Given the description of an element on the screen output the (x, y) to click on. 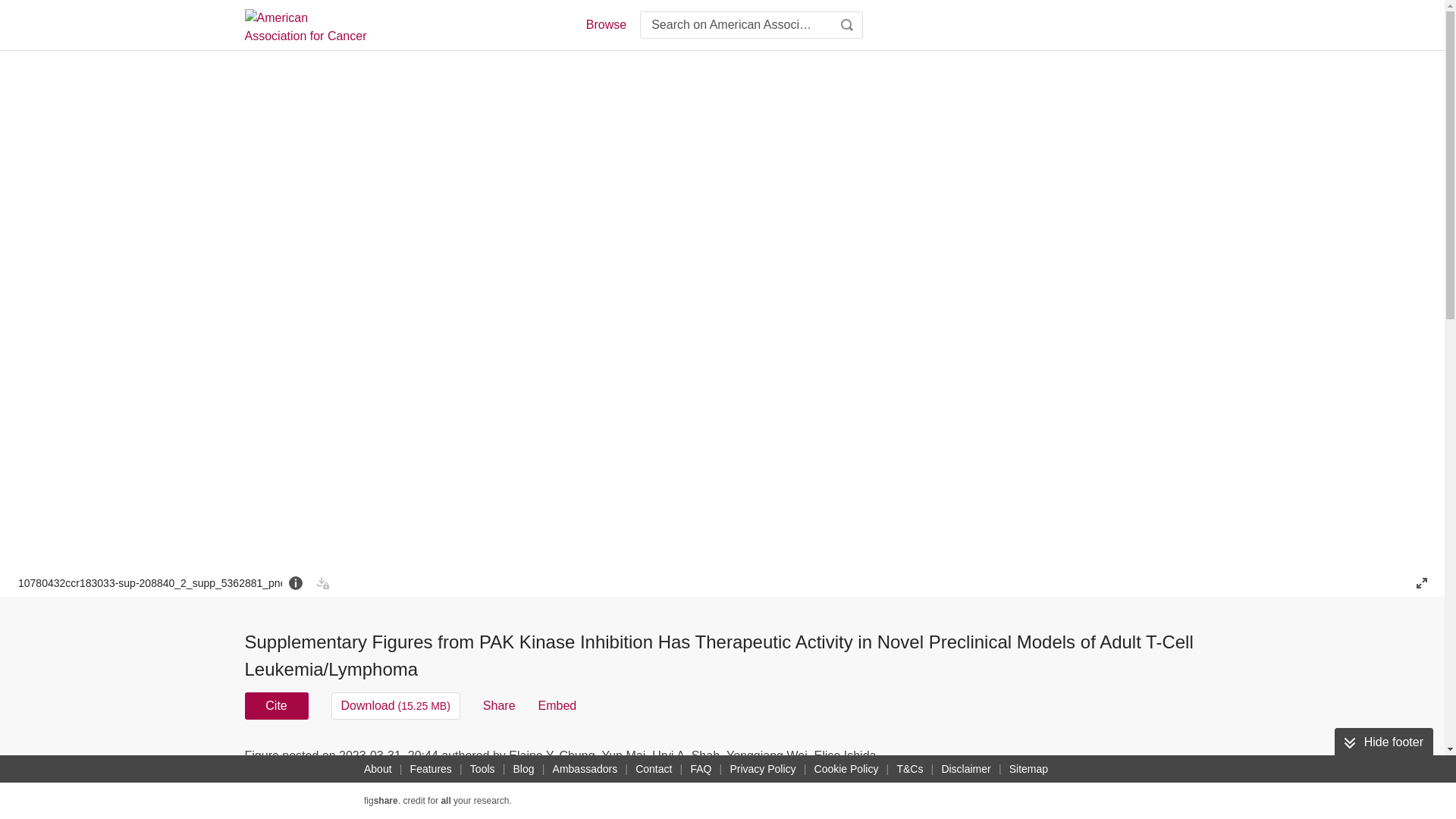
Tools (482, 769)
Hide footer (1383, 742)
About (377, 769)
Privacy Policy (762, 769)
Cookie Policy (846, 769)
FAQ (700, 769)
Embed (557, 705)
Share (499, 705)
Features (431, 769)
Blog (523, 769)
Browse (605, 24)
USAGE METRICS (976, 759)
Contact (653, 769)
Cite (275, 705)
Ambassadors (585, 769)
